Given the description of an element on the screen output the (x, y) to click on. 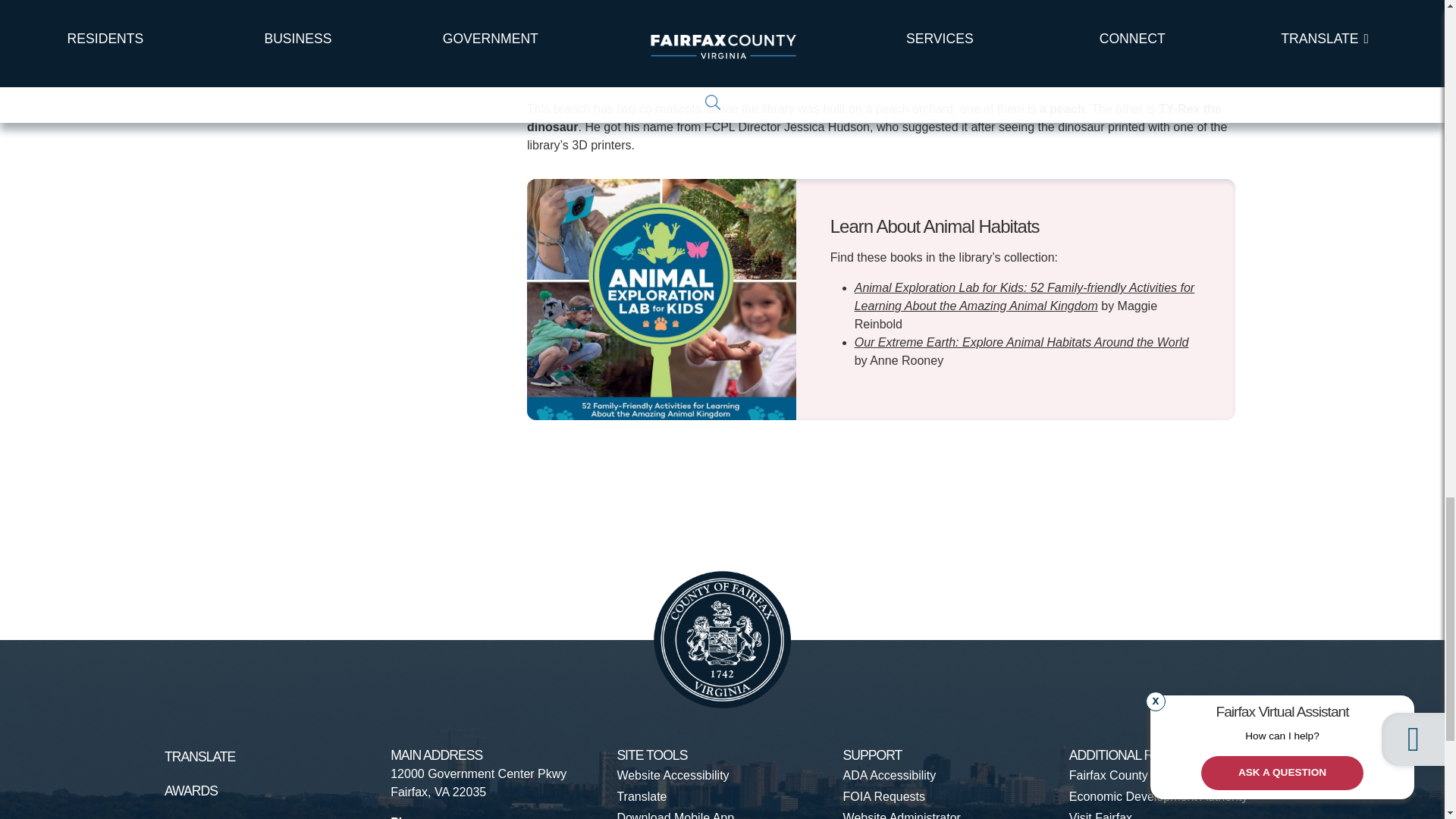
Our Extreme Earth: Explore Animal Habitats Around the World (1021, 341)
